Given the description of an element on the screen output the (x, y) to click on. 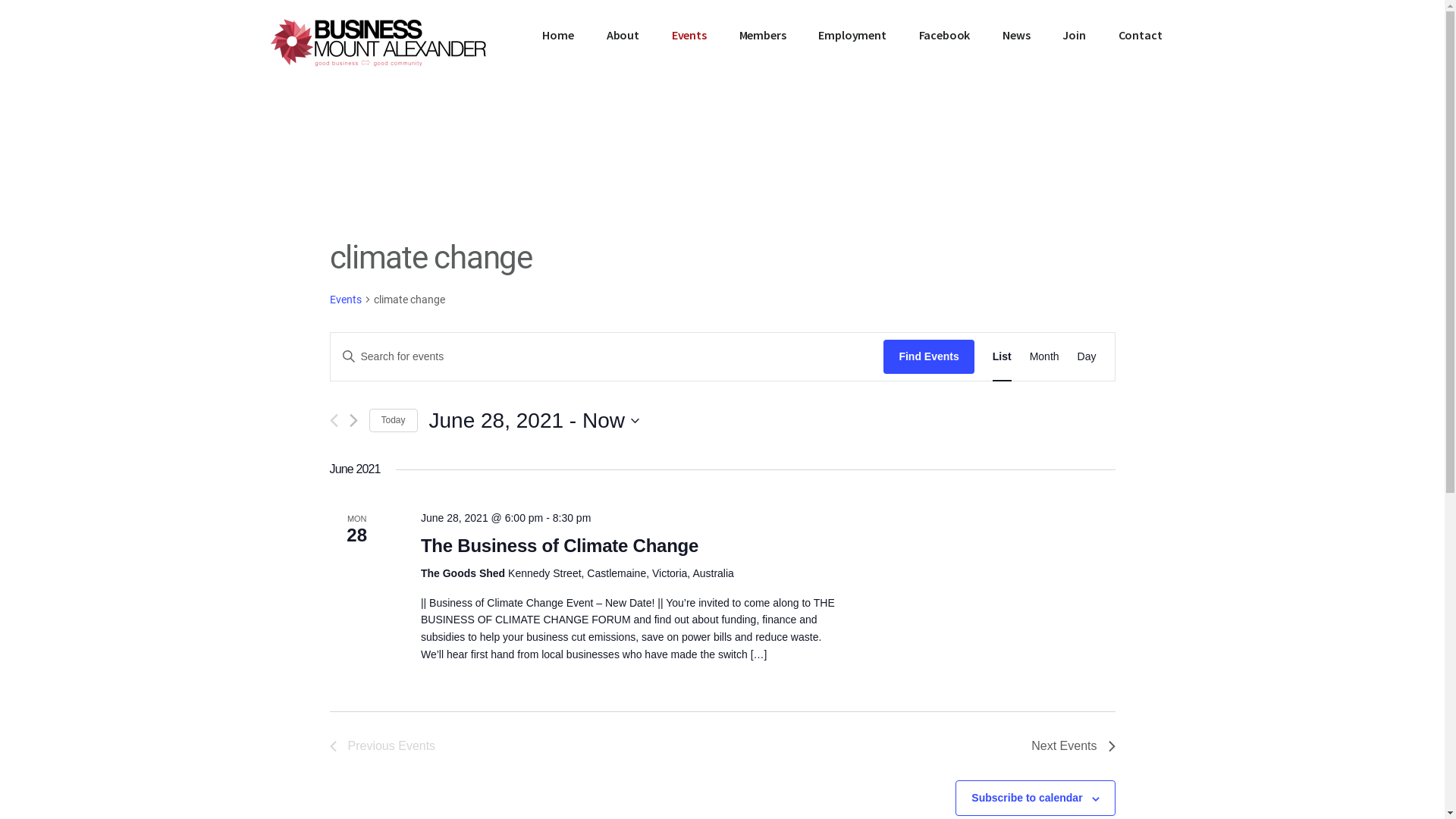
Members Element type: text (762, 34)
Previous Events Element type: hover (333, 420)
Month Element type: text (1044, 356)
Skip to main content Element type: text (0, 0)
About Element type: text (622, 34)
List Element type: text (1001, 356)
The Business of Climate Change Element type: text (559, 545)
Join Element type: text (1073, 34)
Previous Events Element type: text (382, 746)
Employment Element type: text (851, 34)
Today Element type: text (392, 420)
June 28, 2021
 - 
Now Element type: text (534, 420)
News Element type: text (1015, 34)
Subscribe to calendar Element type: text (1026, 797)
Home Element type: text (557, 34)
Day Element type: text (1086, 356)
Events Element type: text (688, 34)
Find Events Element type: text (928, 356)
Next Events Element type: text (1072, 746)
Events Element type: text (344, 300)
Contact Element type: text (1140, 34)
Facebook Element type: text (944, 34)
Next Events Element type: hover (352, 420)
